Given the description of an element on the screen output the (x, y) to click on. 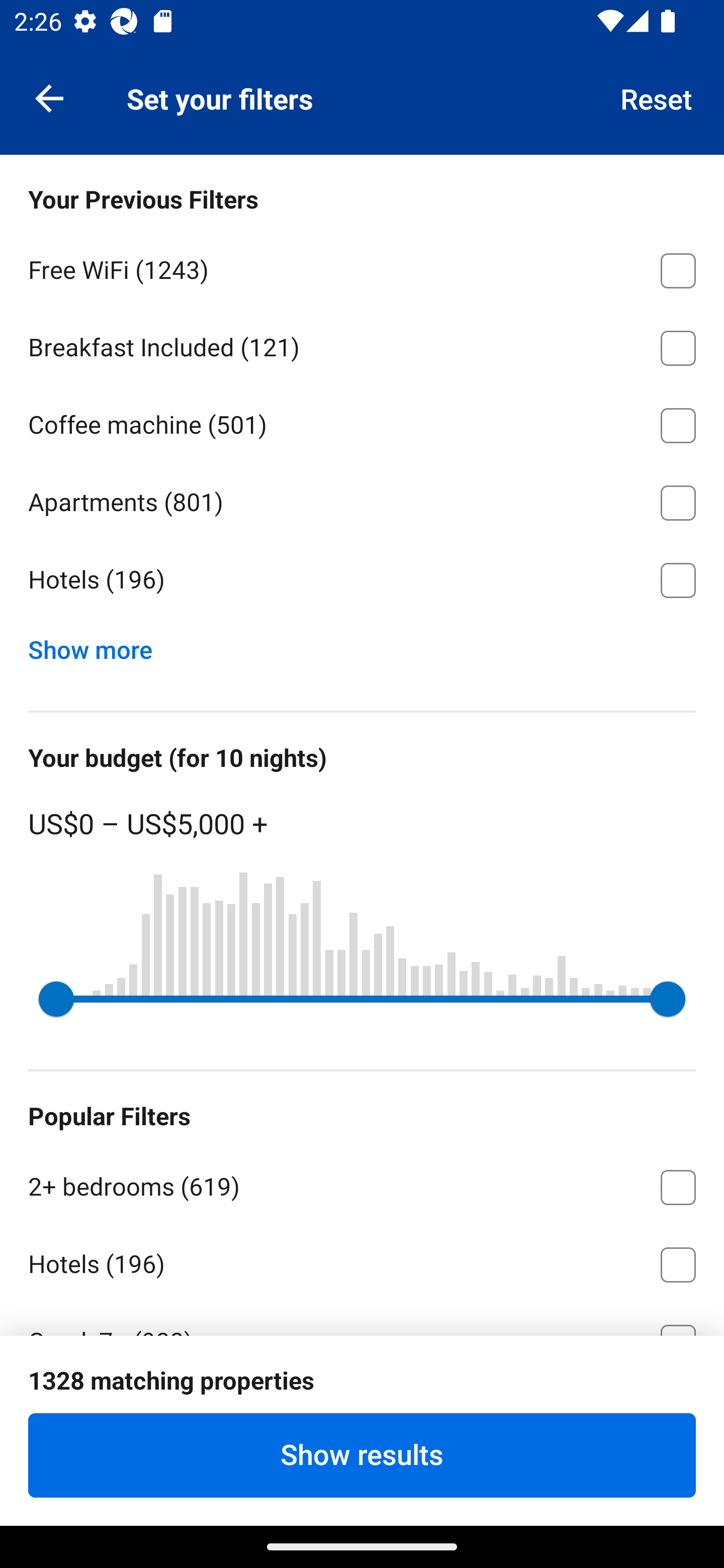
Navigate up (49, 97)
Reset (656, 97)
Free WiFi ⁦(1243) (361, 266)
Breakfast Included ⁦(121) (361, 344)
Coffee machine ⁦(501) (361, 422)
Apartments ⁦(801) (361, 498)
Hotels ⁦(196) (361, 579)
Show more (97, 645)
0.0 Range start,US$0 5000.0 Range end,US$5,000 + (361, 998)
2+ bedrooms ⁦(619) (361, 1183)
Hotels ⁦(196) (361, 1261)
Show results (361, 1454)
